Given the description of an element on the screen output the (x, y) to click on. 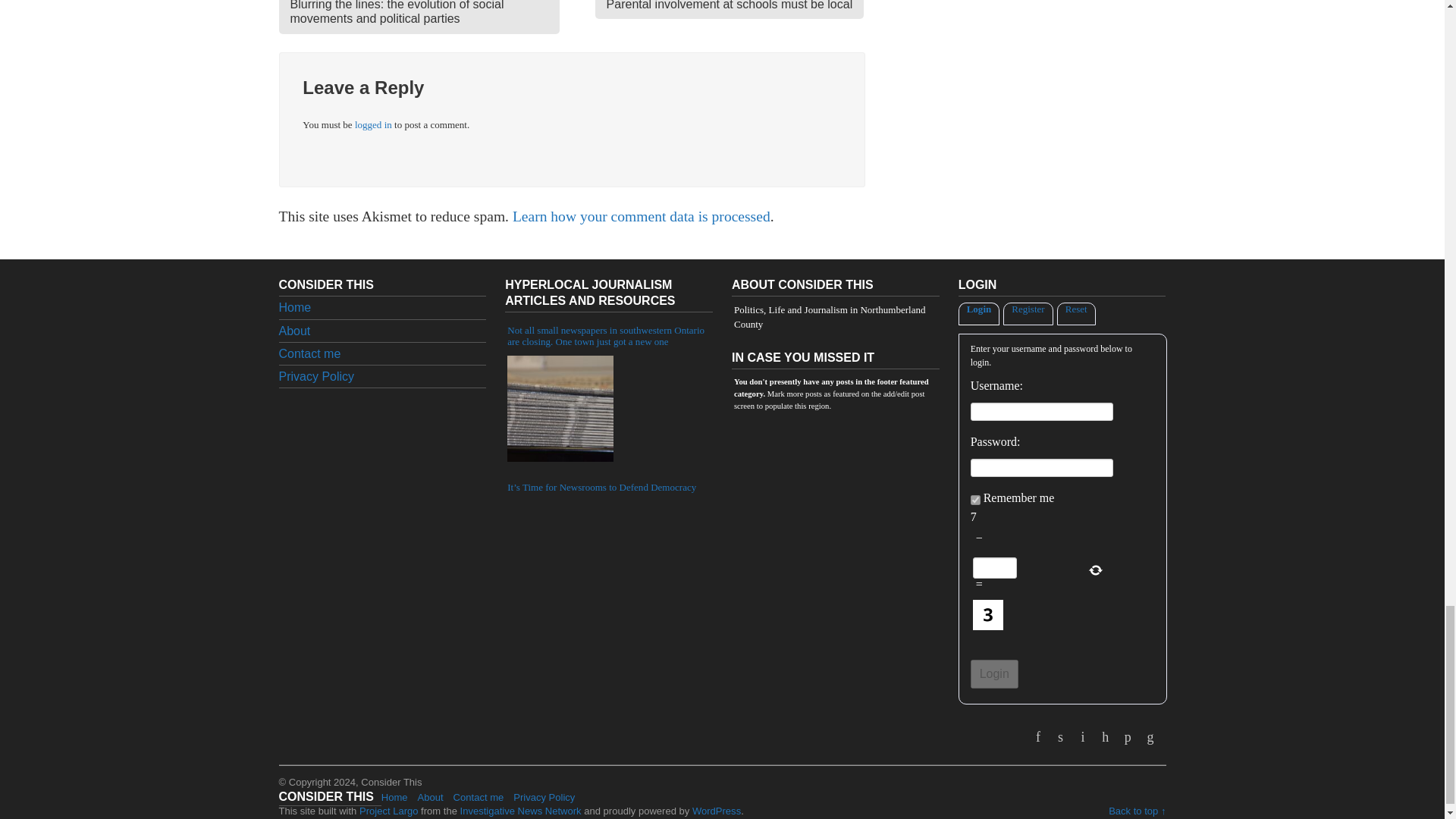
forever (729, 9)
Login (975, 500)
logged in (994, 674)
Learn how your comment data is processed (373, 124)
